Given the description of an element on the screen output the (x, y) to click on. 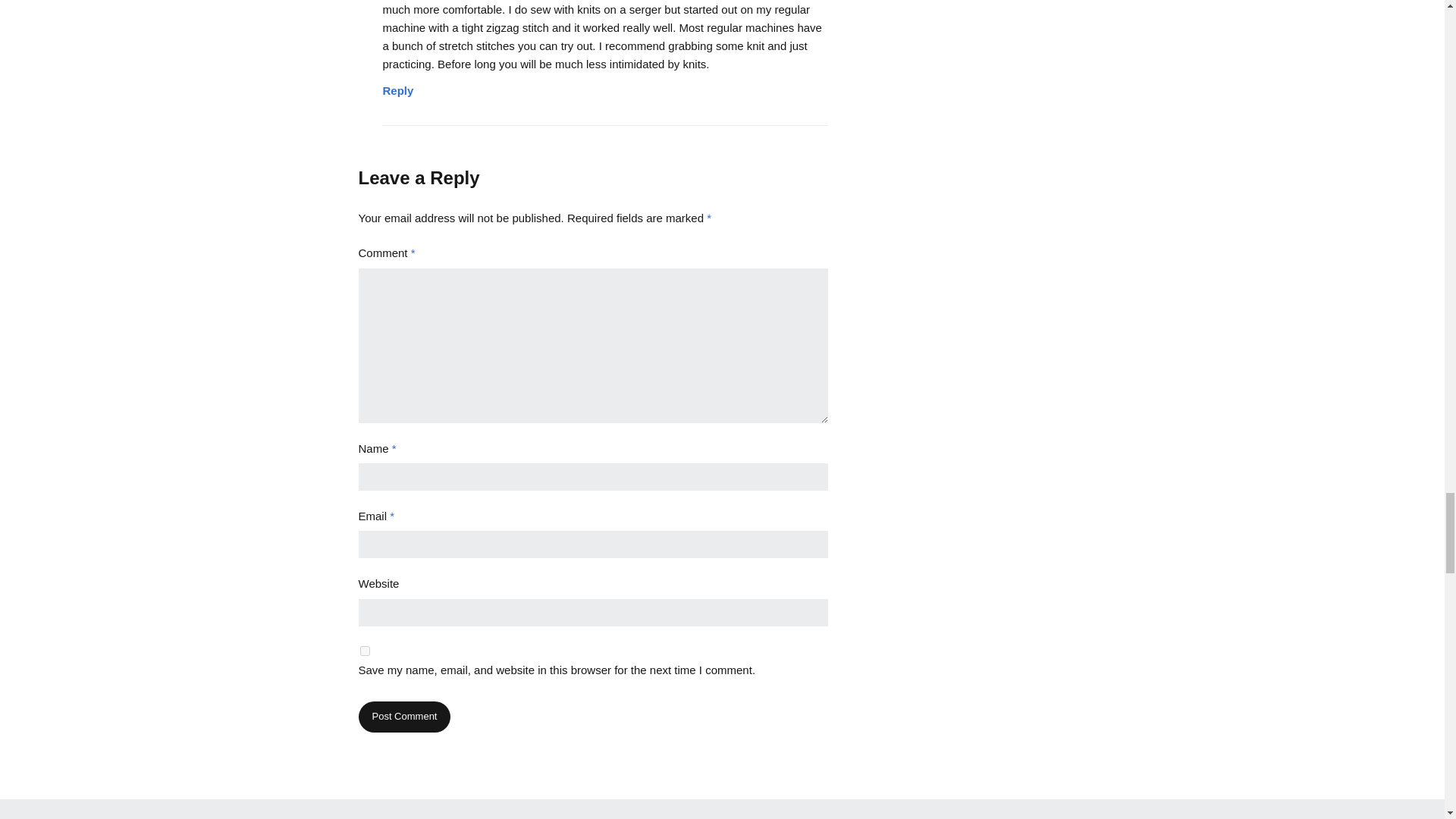
yes (364, 651)
Reply (397, 86)
Post Comment (403, 716)
Post Comment (403, 716)
